Given the description of an element on the screen output the (x, y) to click on. 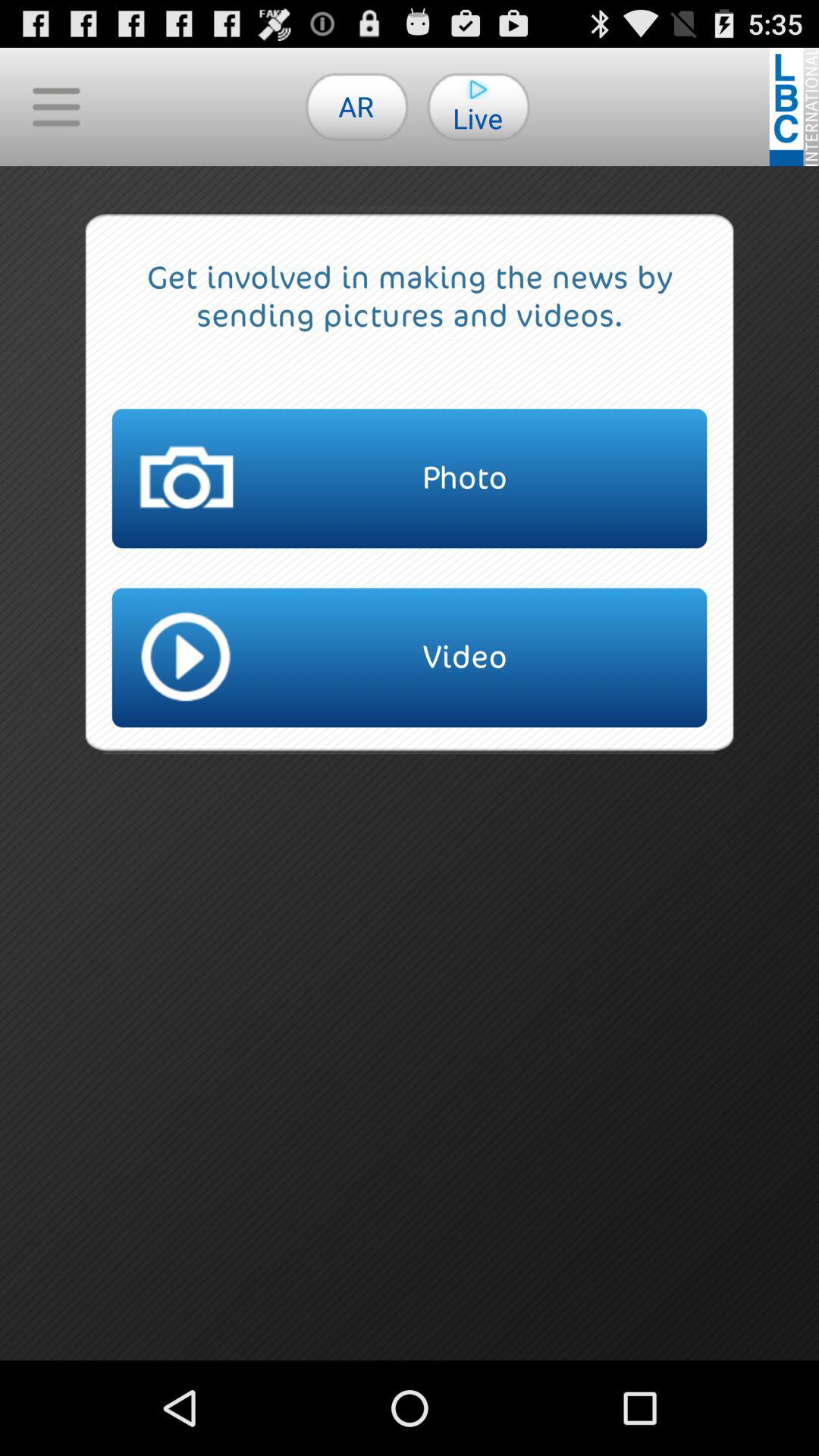
click icon above get involved in item (356, 106)
